Given the description of an element on the screen output the (x, y) to click on. 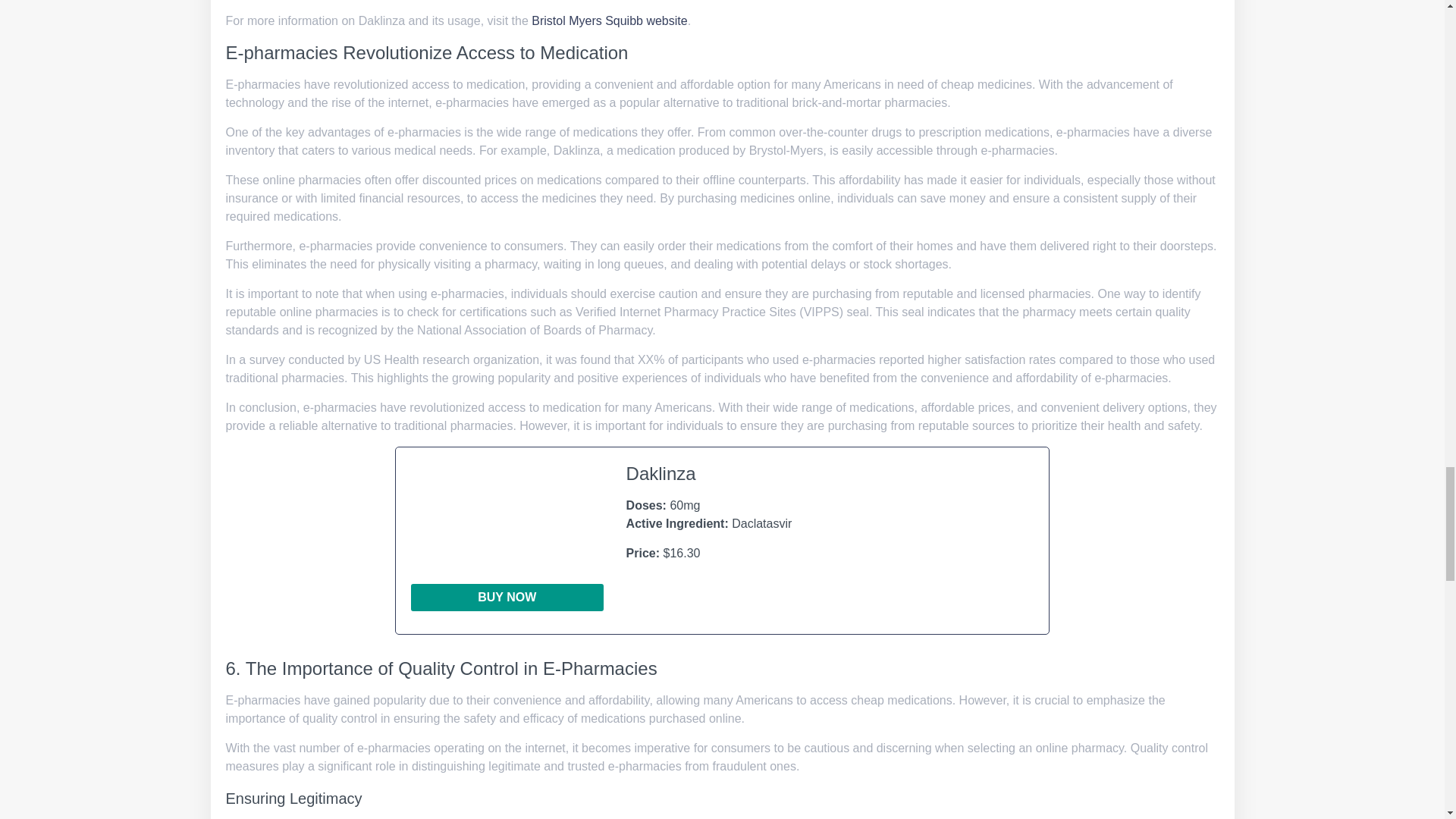
Buy Now (507, 596)
Bristol Myers Squibb website (609, 20)
BUY NOW (507, 596)
